Given the description of an element on the screen output the (x, y) to click on. 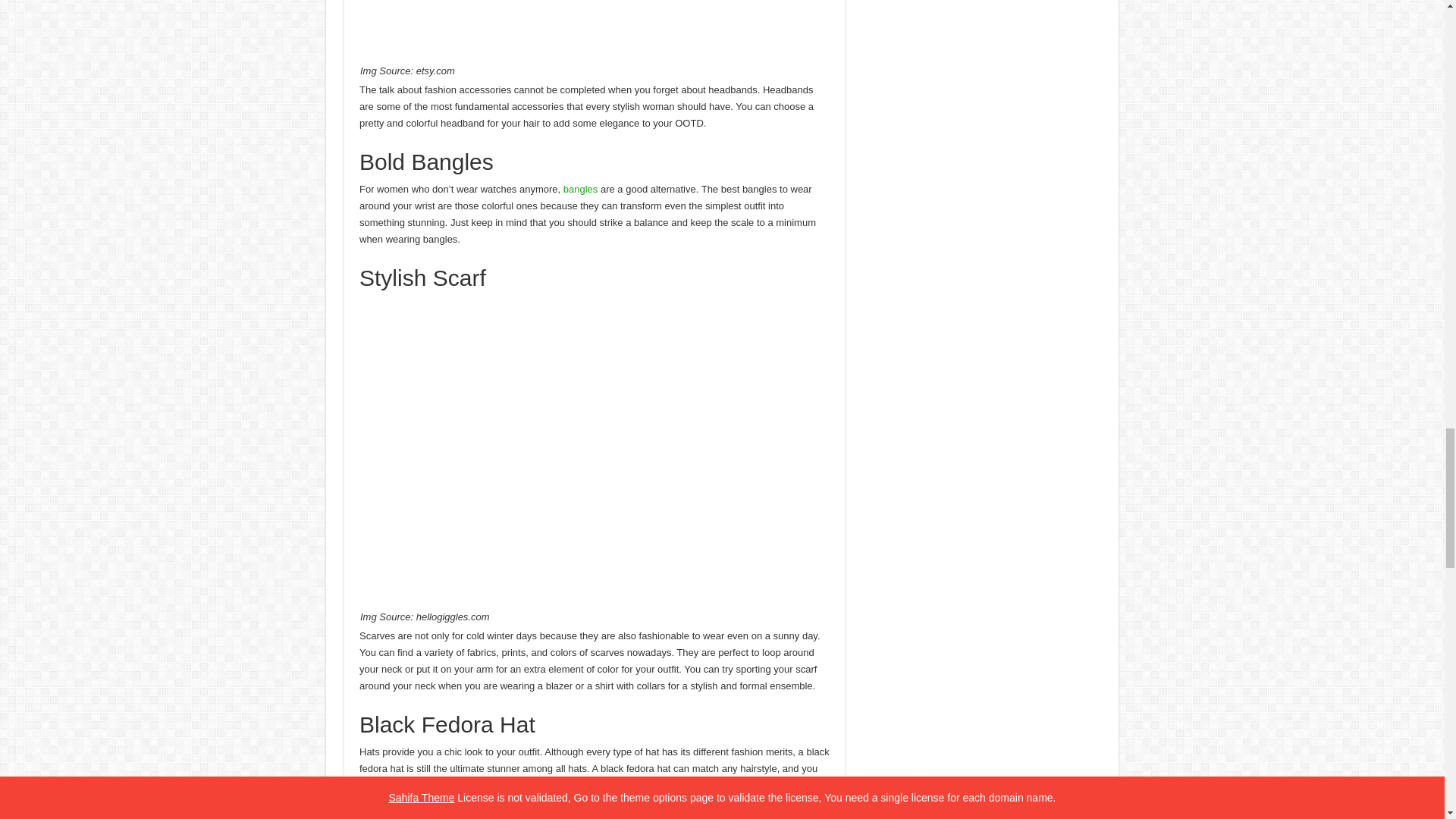
bangles (580, 188)
